Given the description of an element on the screen output the (x, y) to click on. 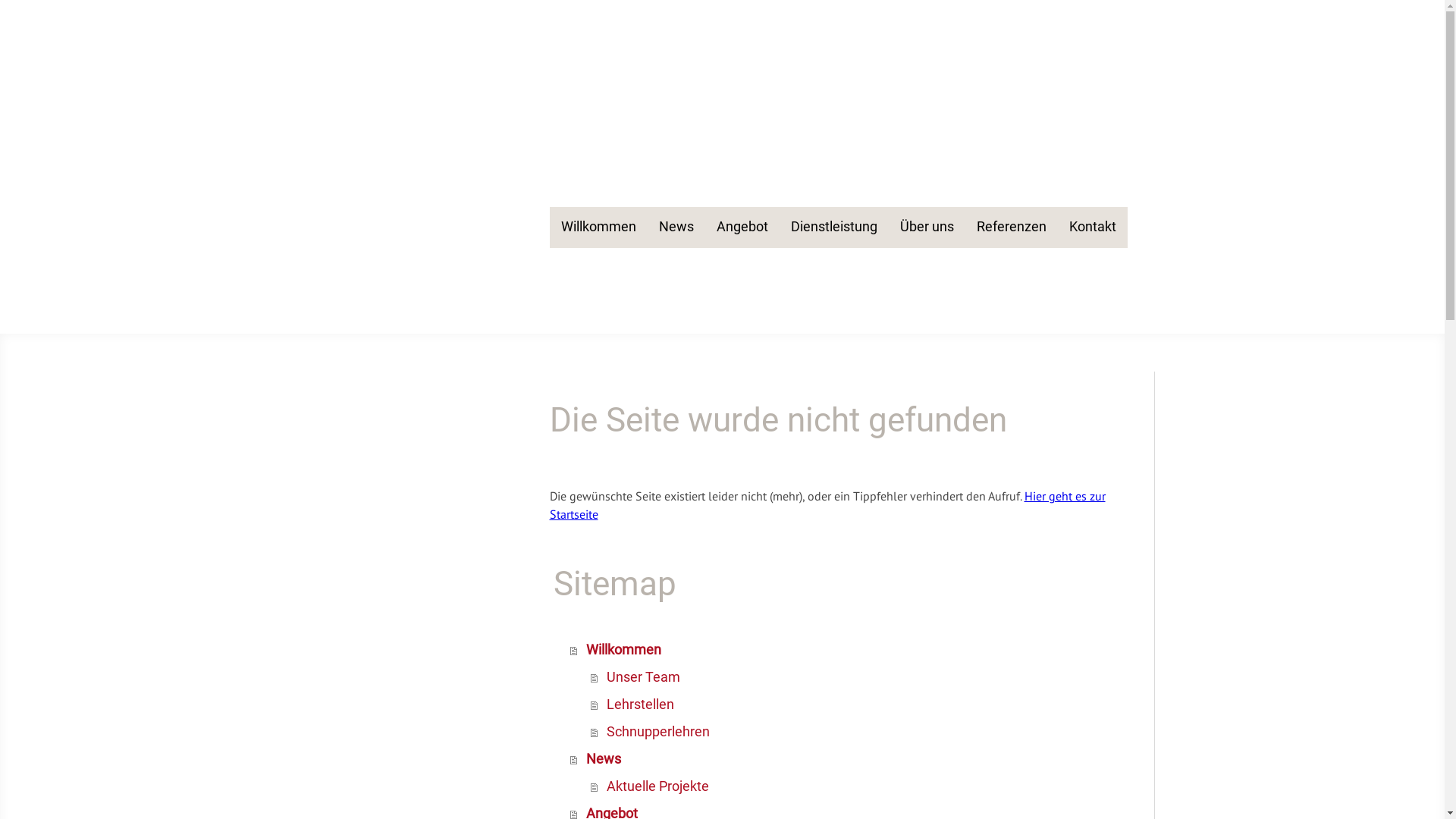
Angebot Element type: text (742, 227)
Schnupperlehren Element type: text (852, 731)
Willkommen Element type: text (597, 227)
Willkommen Element type: text (843, 649)
Lehrstellen Element type: text (852, 704)
Dienstleistung Element type: text (833, 227)
News Element type: text (843, 758)
News Element type: text (676, 227)
Kontakt Element type: text (1091, 227)
Referenzen Element type: text (1010, 227)
Unser Team Element type: text (852, 676)
Hier geht es zur Startseite Element type: text (826, 504)
Aktuelle Projekte Element type: text (852, 786)
